Given the description of an element on the screen output the (x, y) to click on. 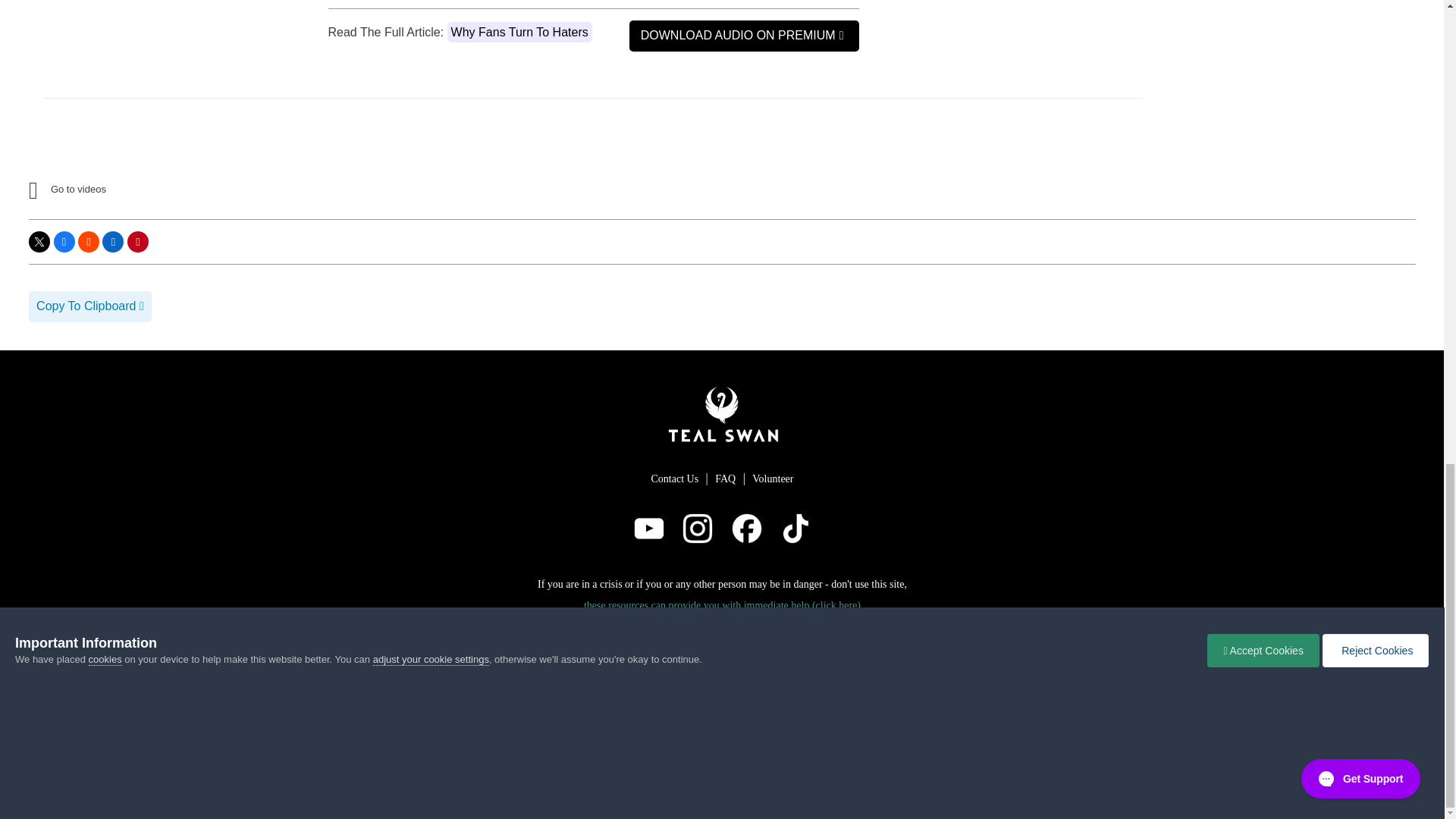
Share on X (39, 241)
Share on Pinterest (138, 241)
Share on Reddit (88, 241)
Share on Facebook (64, 241)
Share on LinkedIn (112, 241)
Invision Community (722, 675)
